Given the description of an element on the screen output the (x, y) to click on. 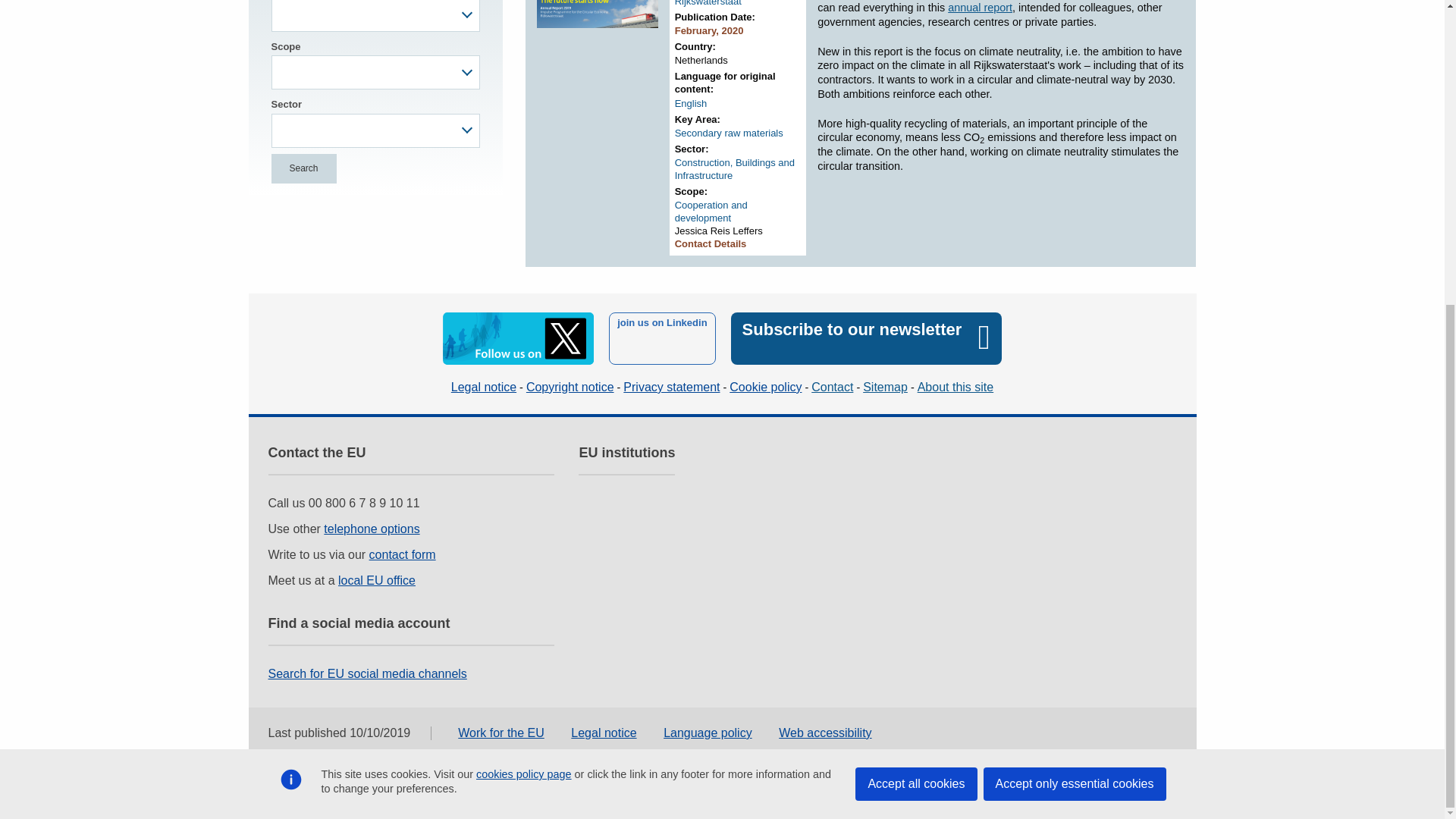
Search (303, 168)
Accept only essential cookies (1074, 305)
cookies policy page (524, 295)
Accept all cookies (916, 305)
